Given the description of an element on the screen output the (x, y) to click on. 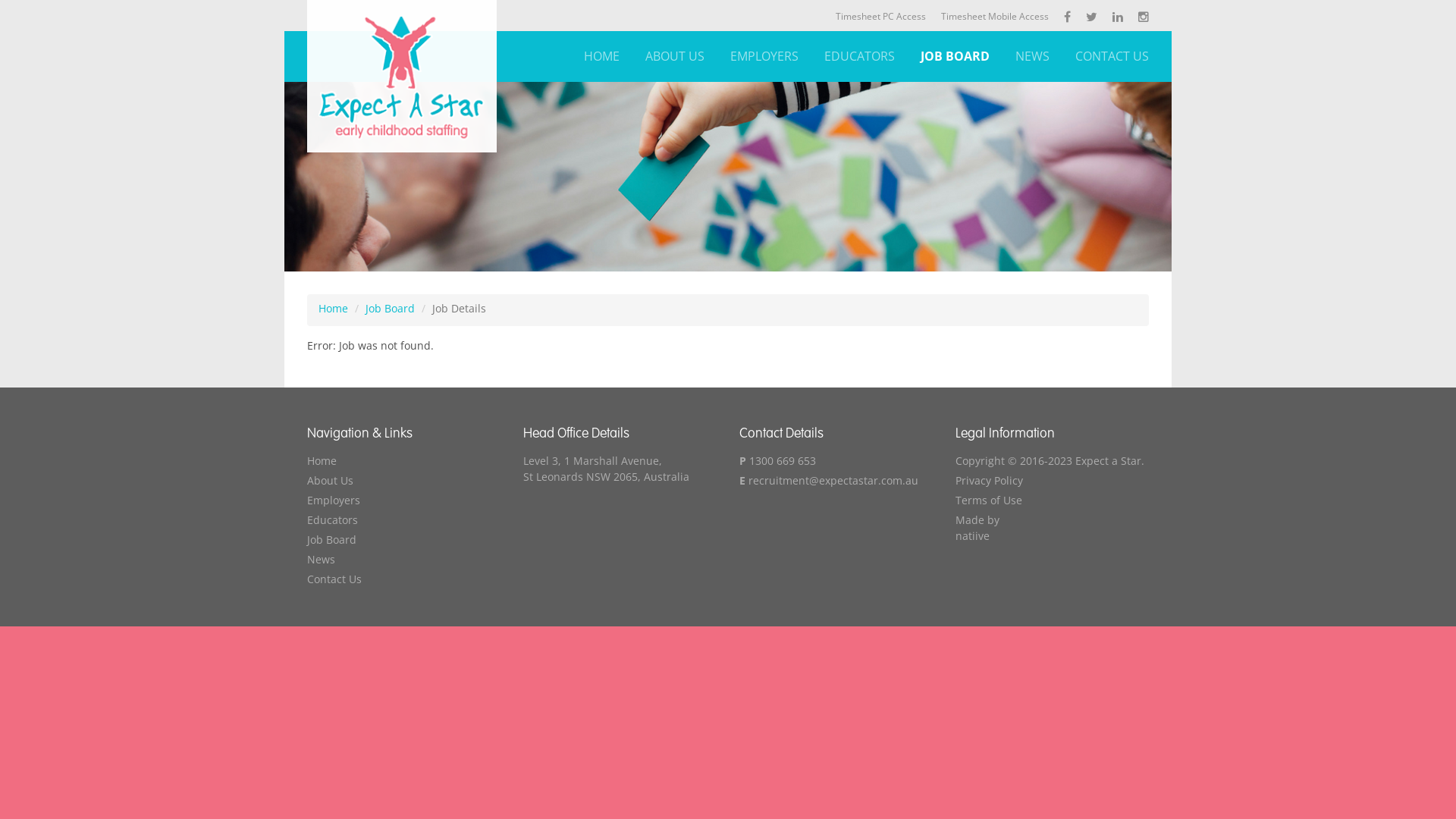
Timesheet Mobile Access Element type: text (994, 15)
EMPLOYERS Element type: text (764, 56)
Job Board Element type: text (403, 539)
Home Element type: text (403, 460)
News Element type: text (403, 559)
Terms of Use Element type: text (1051, 500)
Employers Element type: text (403, 500)
HOME Element type: text (601, 56)
Educators Element type: text (403, 519)
Made by Element type: text (1051, 519)
P 1300 669 653 Element type: text (835, 460)
About Us Element type: text (403, 480)
Level 3, 1 Marshall Avenue,
St Leonards NSW 2065, Australia Element type: text (619, 468)
NEWS Element type: text (1032, 56)
Instagram Element type: hover (1143, 15)
JOB BOARD Element type: text (954, 56)
Facebook Element type: hover (1066, 15)
Privacy Policy Element type: text (1051, 480)
E recruitment@expectastar.com.au Element type: text (835, 480)
EDUCATORS Element type: text (859, 56)
Job Board Element type: text (389, 308)
natiive Element type: text (1051, 535)
Twitter Element type: hover (1091, 15)
CONTACT US Element type: text (1111, 56)
ABOUT US Element type: text (674, 56)
LinkedIn Element type: hover (1117, 15)
Timesheet PC Access Element type: text (880, 15)
Contact Us Element type: text (403, 578)
Home Element type: text (333, 308)
